Given the description of an element on the screen output the (x, y) to click on. 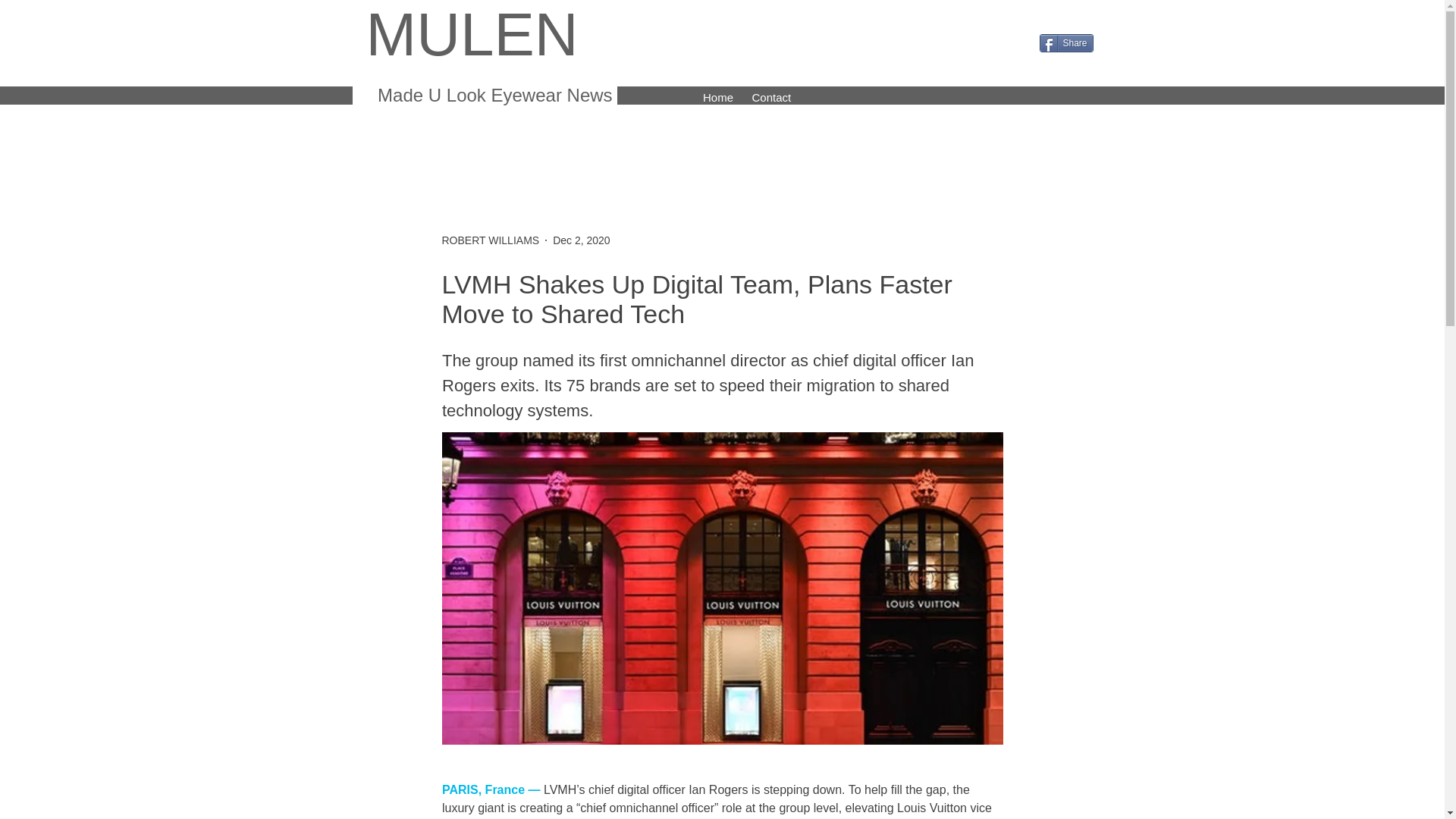
Dec 2, 2020 (581, 239)
Share (1066, 43)
ROBERT WILLIAMS (489, 239)
Home (717, 95)
MULEN (471, 33)
 Made U Look Eyewear News (491, 95)
Share (1066, 43)
Contact (770, 95)
